Given the description of an element on the screen output the (x, y) to click on. 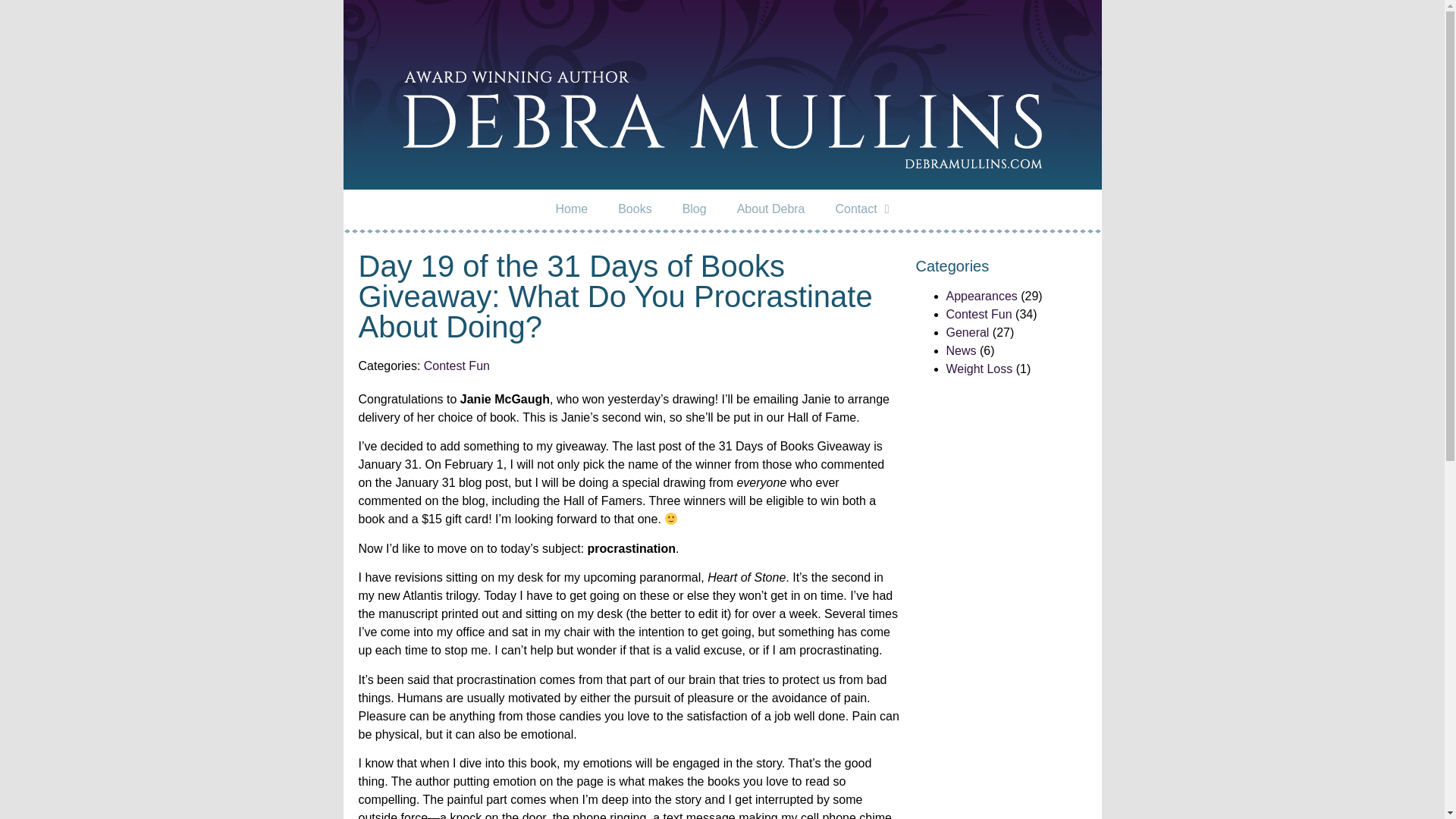
Weight Loss (979, 368)
About Debra (771, 208)
Blog (694, 208)
Appearances (981, 295)
Contest Fun (978, 314)
Contact (862, 208)
Books (634, 208)
Contest Fun (456, 365)
General (968, 332)
Home (571, 208)
